Given the description of an element on the screen output the (x, y) to click on. 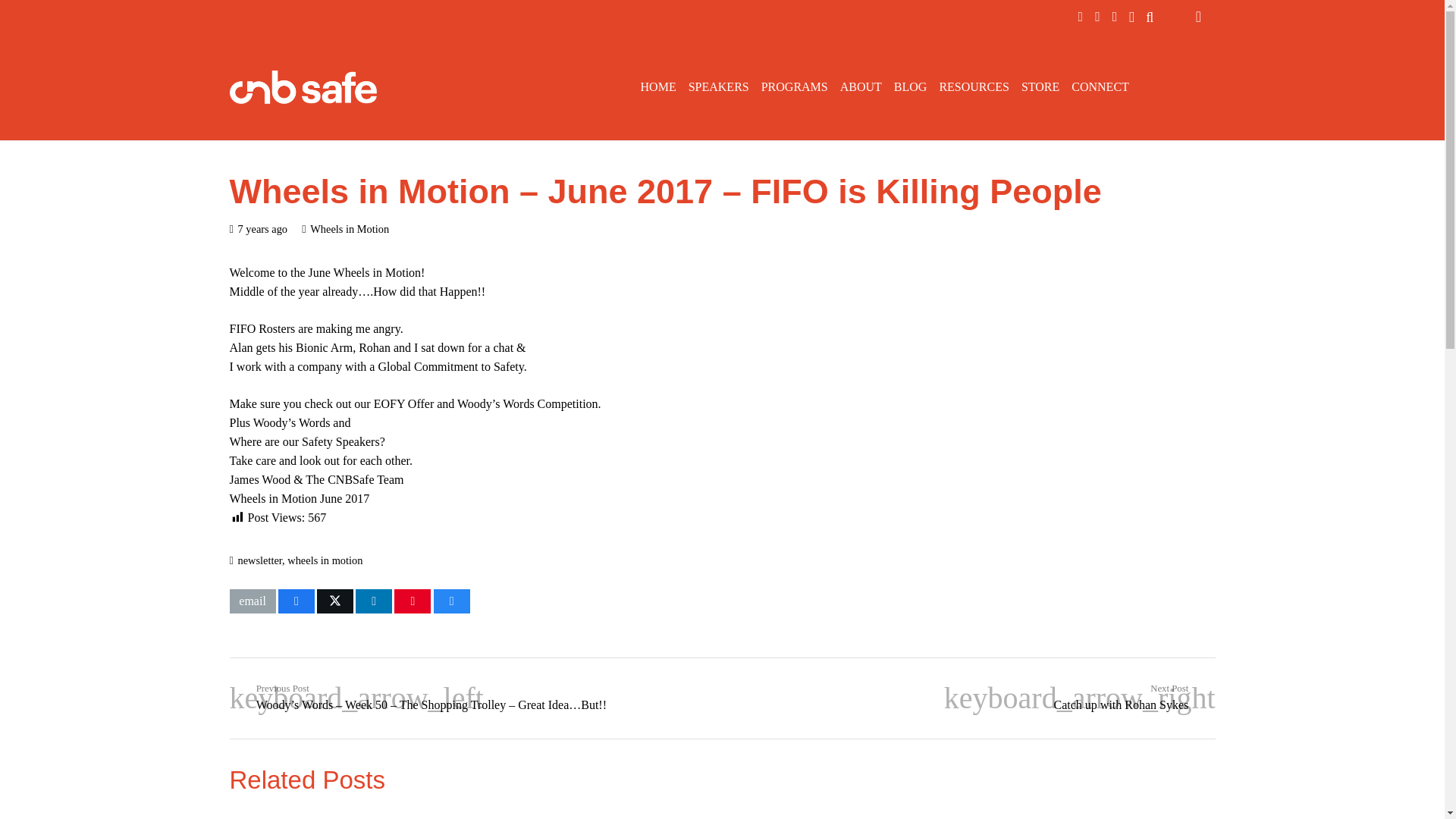
Share this (296, 600)
Share this (373, 600)
Email this (251, 600)
Share this (451, 600)
Pin this (412, 600)
Catch up with Rohan Sykes (968, 697)
Tweet this (335, 600)
